Given the description of an element on the screen output the (x, y) to click on. 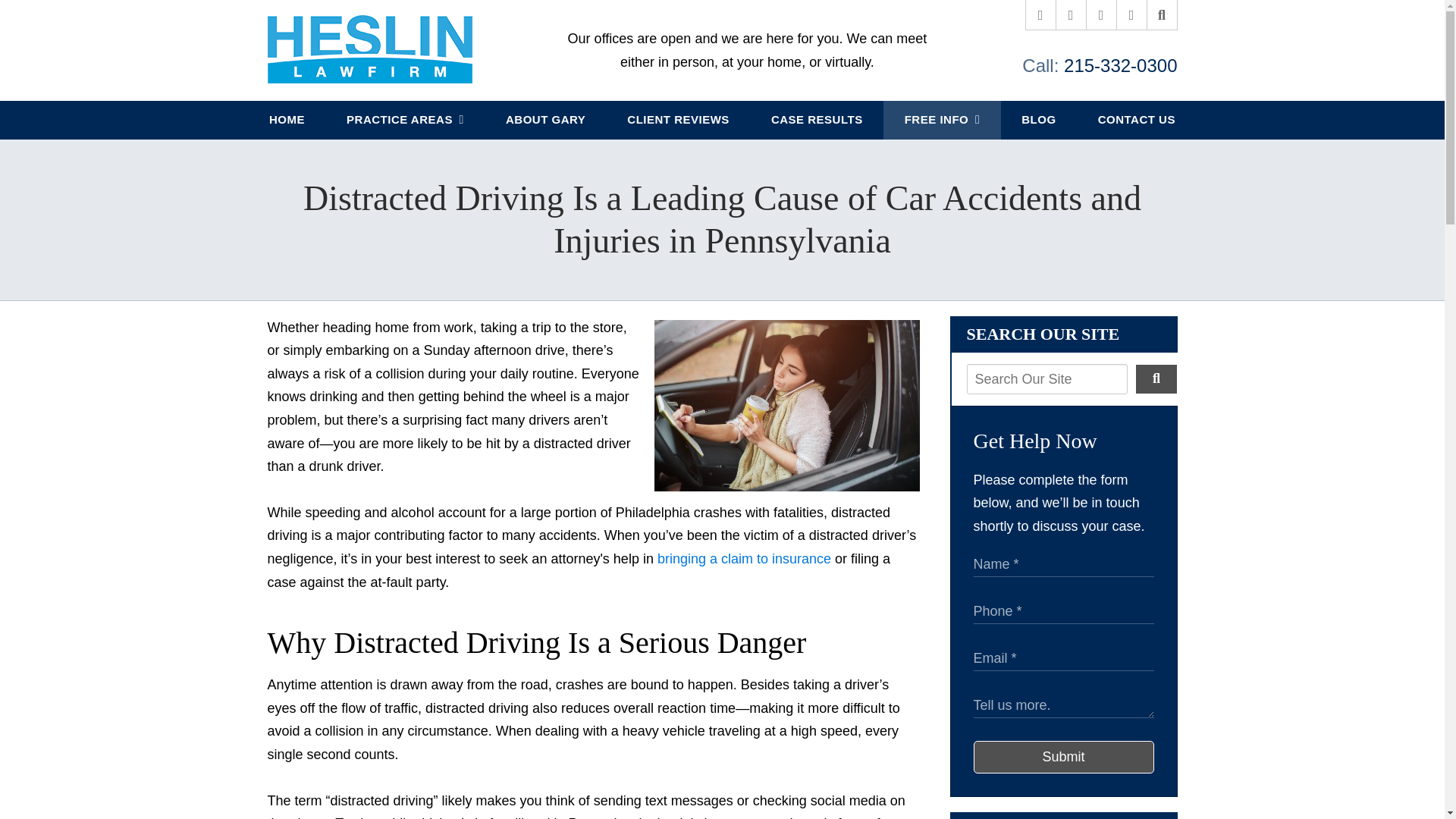
Search (1155, 378)
ABOUT GARY (544, 119)
Search (1161, 15)
CASE RESULTS (816, 119)
PRACTICE AREAS (405, 119)
HOME (287, 119)
CLIENT REVIEWS (679, 119)
FREE INFO (942, 119)
BLOG (1039, 119)
